Given the description of an element on the screen output the (x, y) to click on. 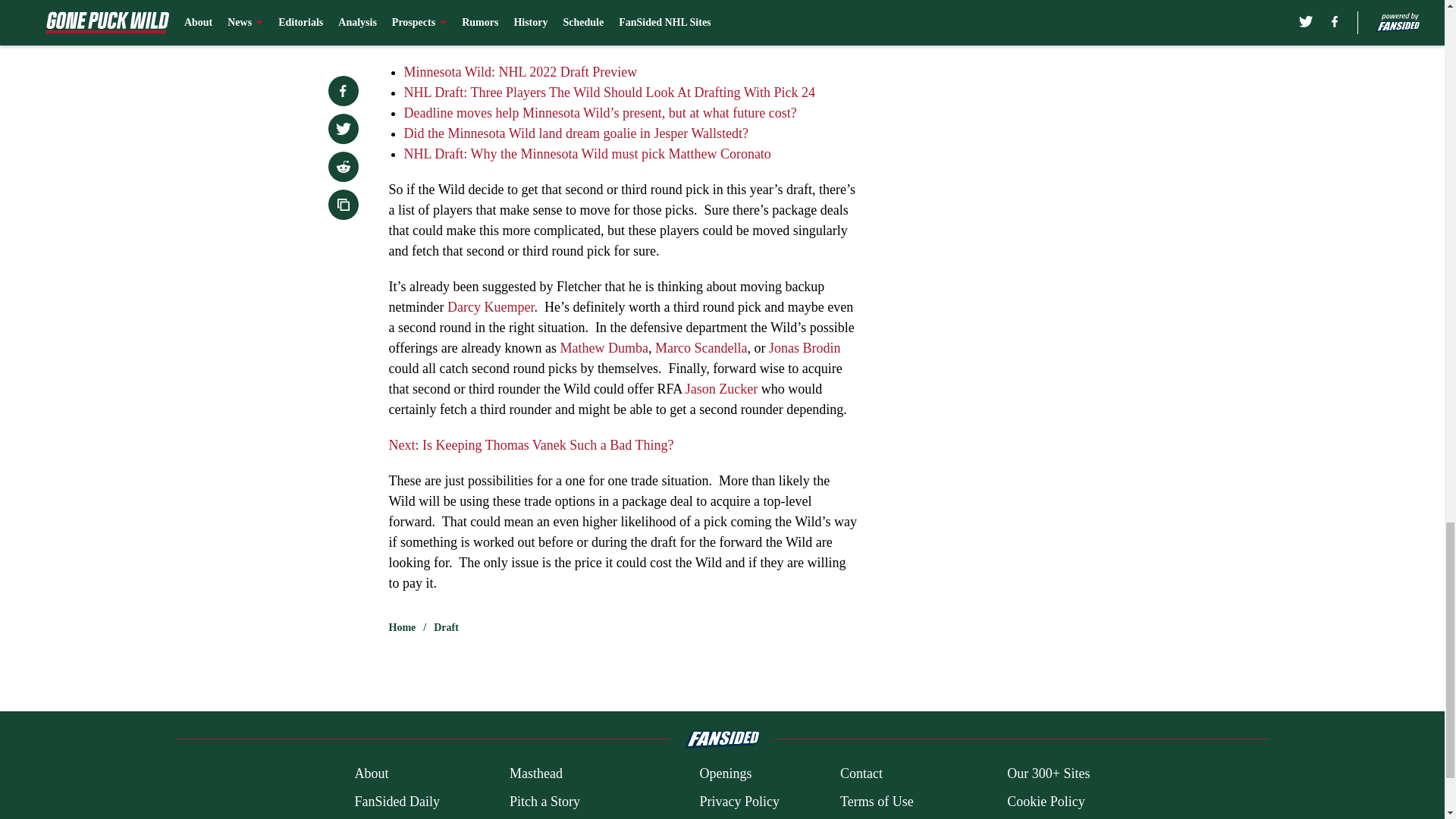
Darcy Kuemper (490, 306)
About (370, 773)
Jason Zucker (721, 388)
Home (401, 627)
NHL Draft: Why the Minnesota Wild must pick Matthew Coronato (586, 153)
Draft (445, 627)
Mathew Dumba (603, 347)
Next: Is Keeping Thomas Vanek Such a Bad Thing? (530, 444)
Minnesota Wild: NHL 2022 Draft Preview (520, 71)
Jonas Brodin (804, 347)
Marco Scandella (700, 347)
